Given the description of an element on the screen output the (x, y) to click on. 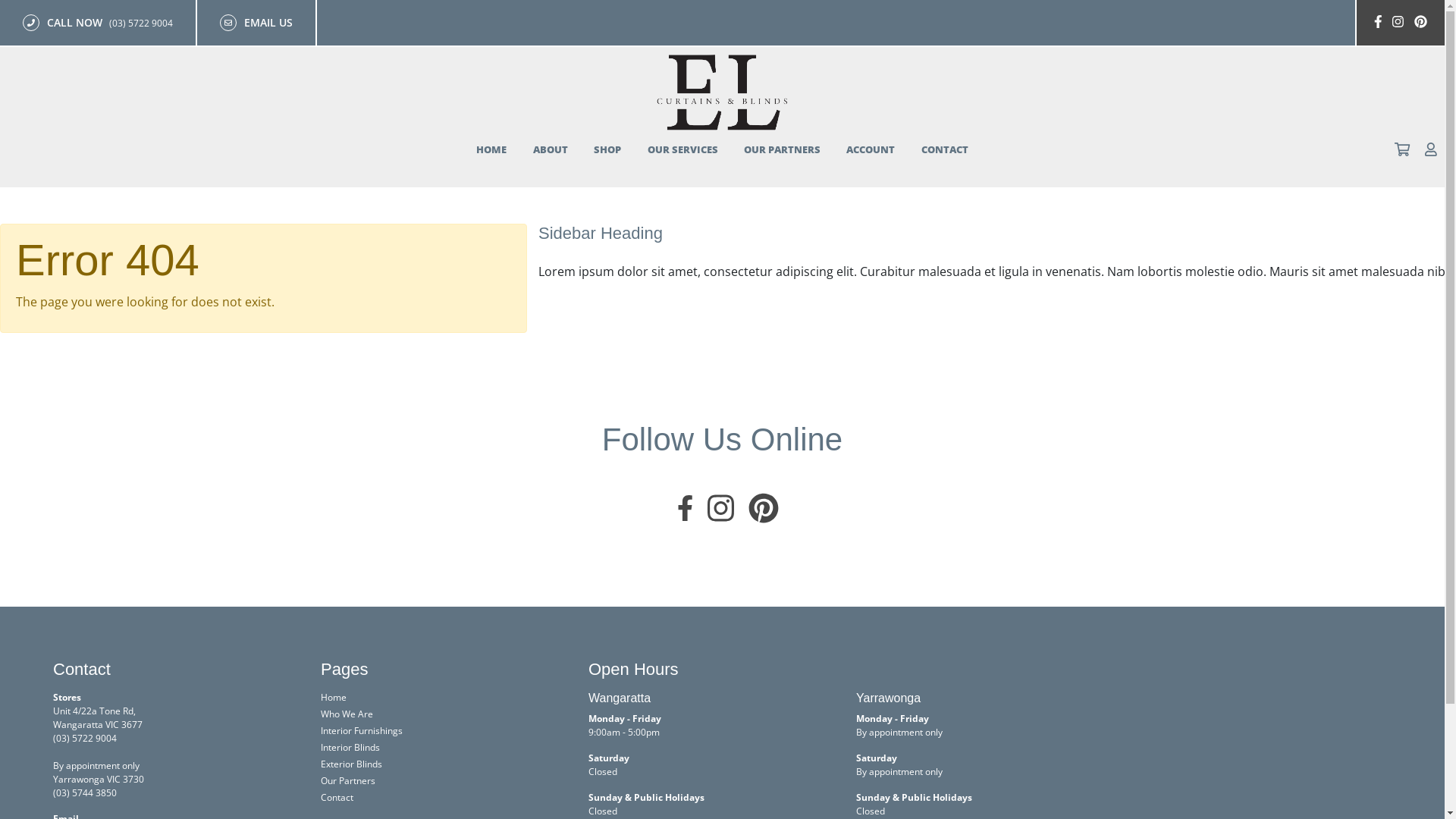
ACCOUNT Element type: text (870, 149)
Exterior Blinds Element type: text (351, 763)
HOME Element type: text (490, 149)
Interior Furnishings Element type: text (361, 730)
SHOP Element type: text (607, 149)
Interior Blinds Element type: text (349, 746)
Contact Element type: text (336, 796)
OUR PARTNERS Element type: text (781, 149)
Who We Are Element type: text (346, 713)
Our Partners Element type: text (347, 780)
OUR SERVICES Element type: text (681, 149)
ABOUT Element type: text (550, 149)
Home Element type: text (333, 696)
CONTACT Element type: text (944, 149)
